Given the description of an element on the screen output the (x, y) to click on. 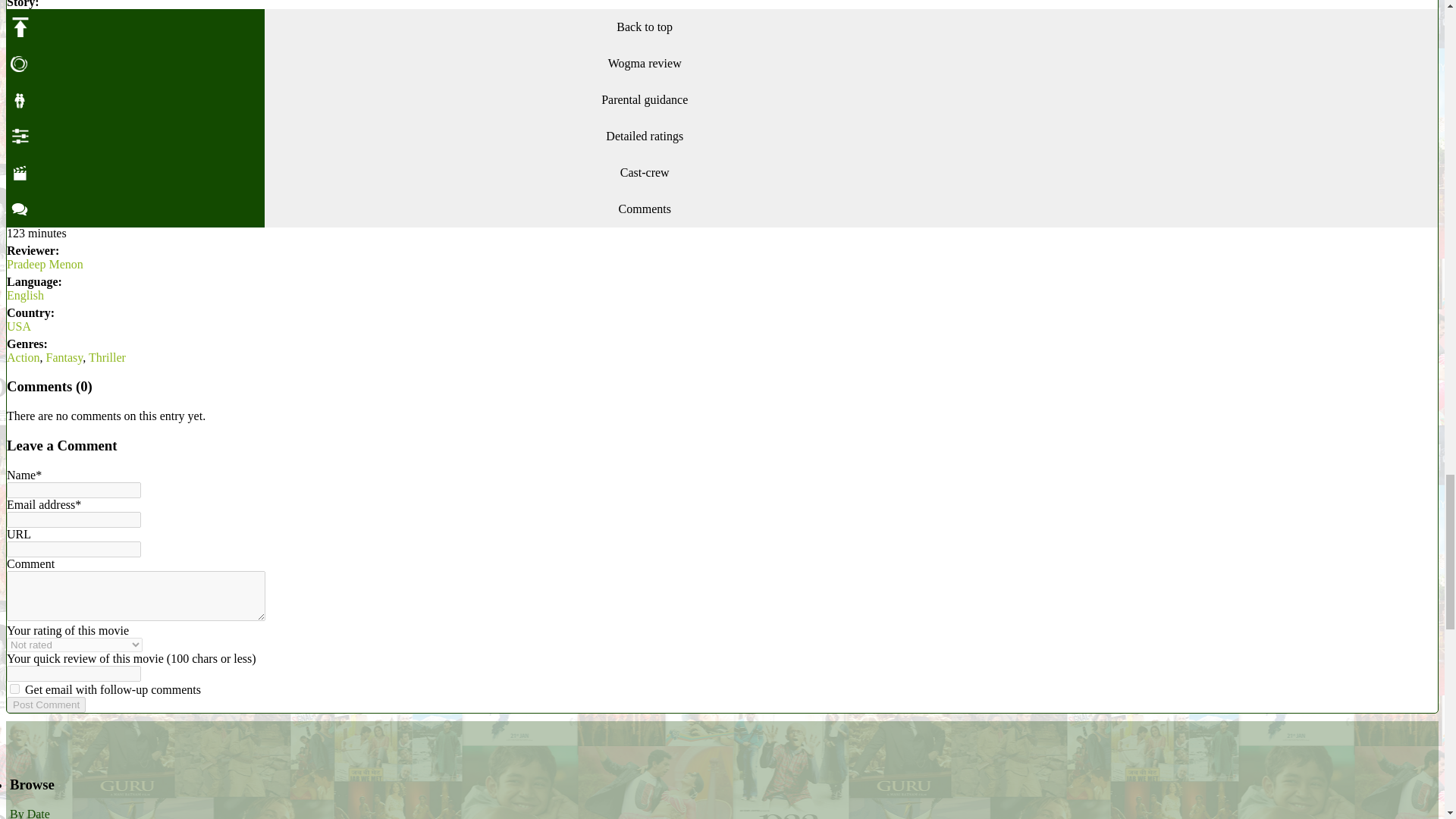
Post Comment (46, 704)
on (15, 688)
